Given the description of an element on the screen output the (x, y) to click on. 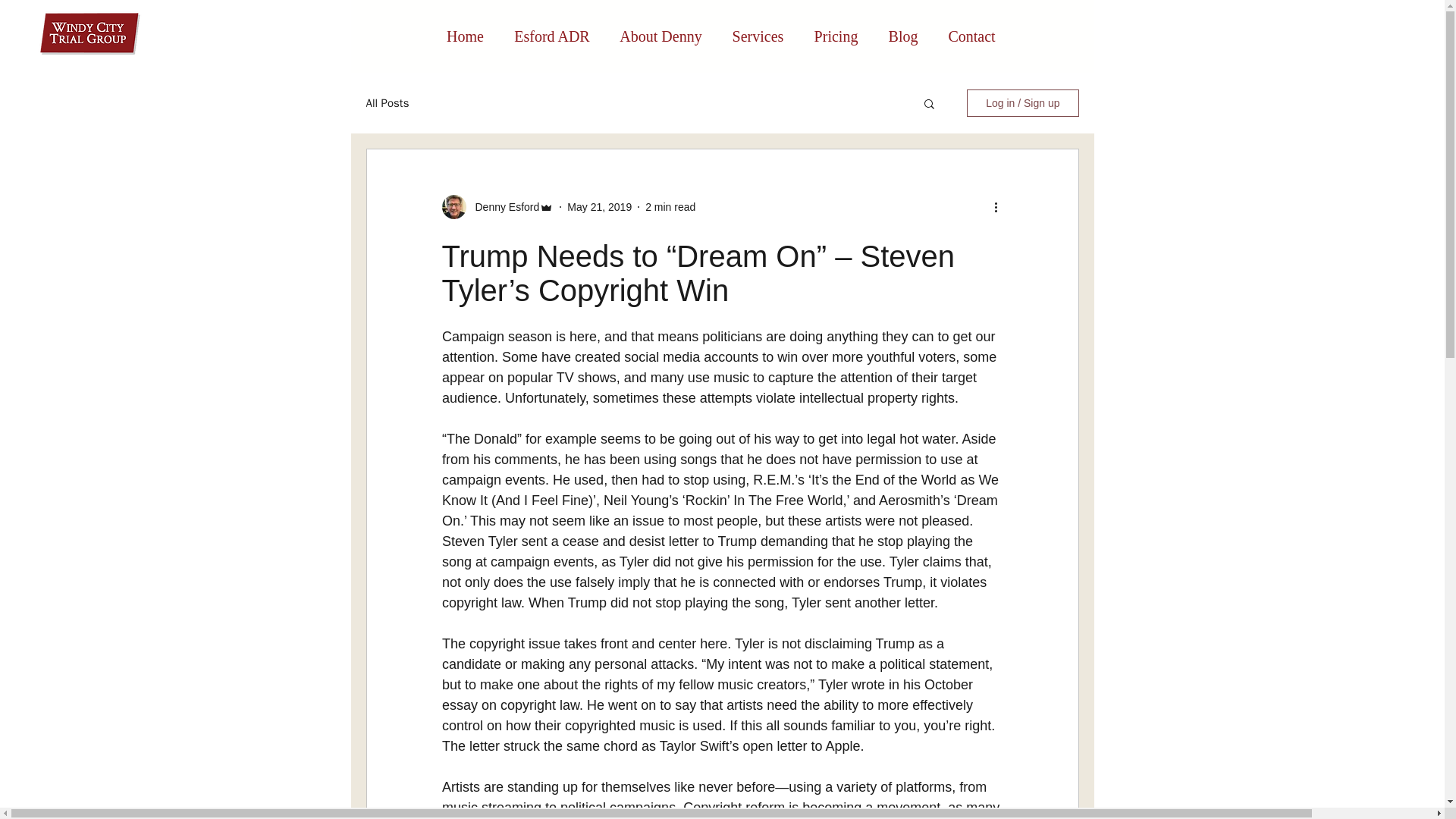
About Denny (661, 35)
Home (464, 35)
May 21, 2019 (599, 205)
Esford ADR (551, 35)
2 min read (670, 205)
All Posts (387, 102)
Denny Esford (501, 206)
Contact (971, 35)
Pricing (836, 35)
Blog (903, 35)
